Given the description of an element on the screen output the (x, y) to click on. 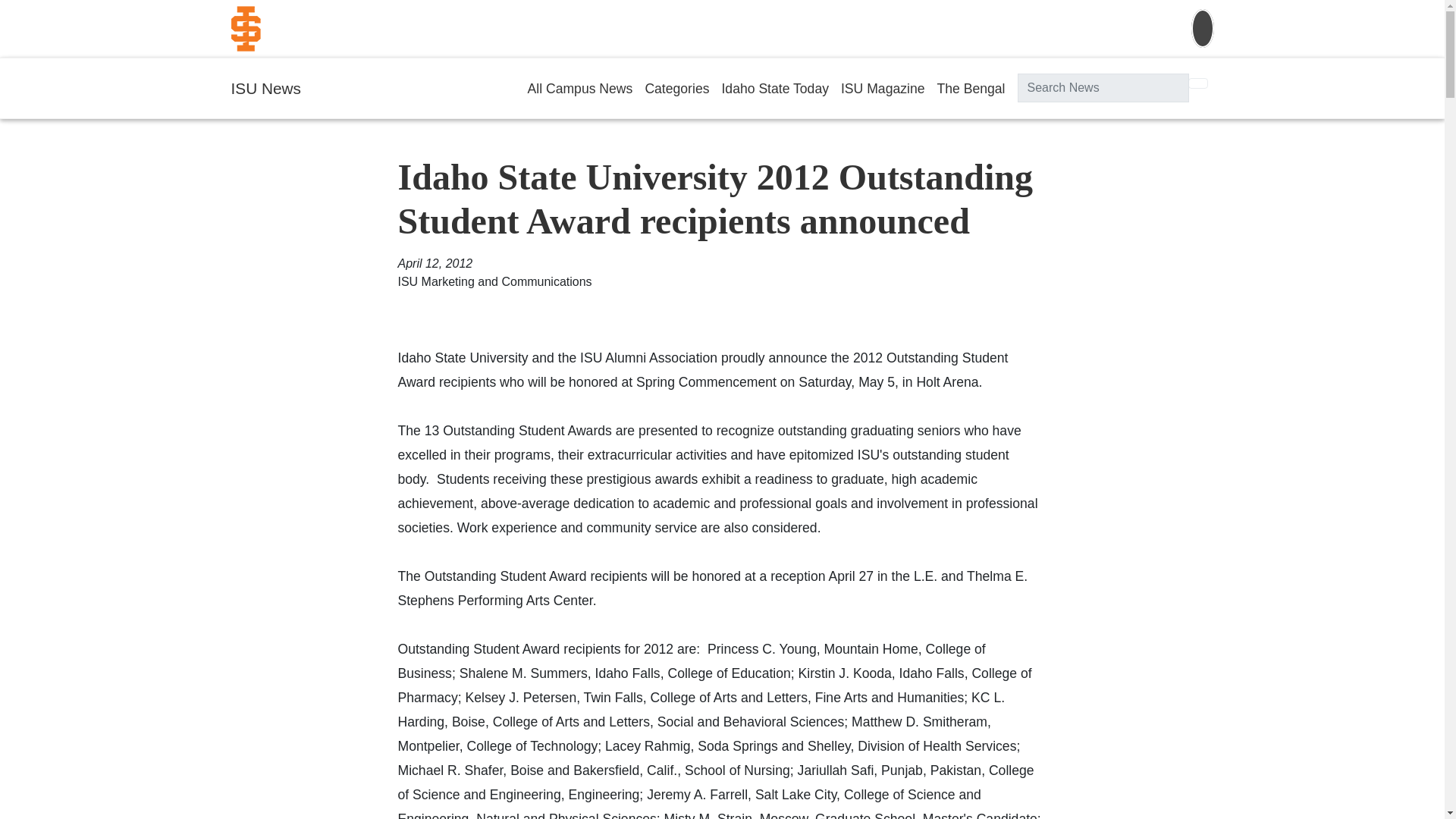
GIVE (1012, 28)
QUICKLINKS (1097, 28)
APPLY (930, 28)
